Given the description of an element on the screen output the (x, y) to click on. 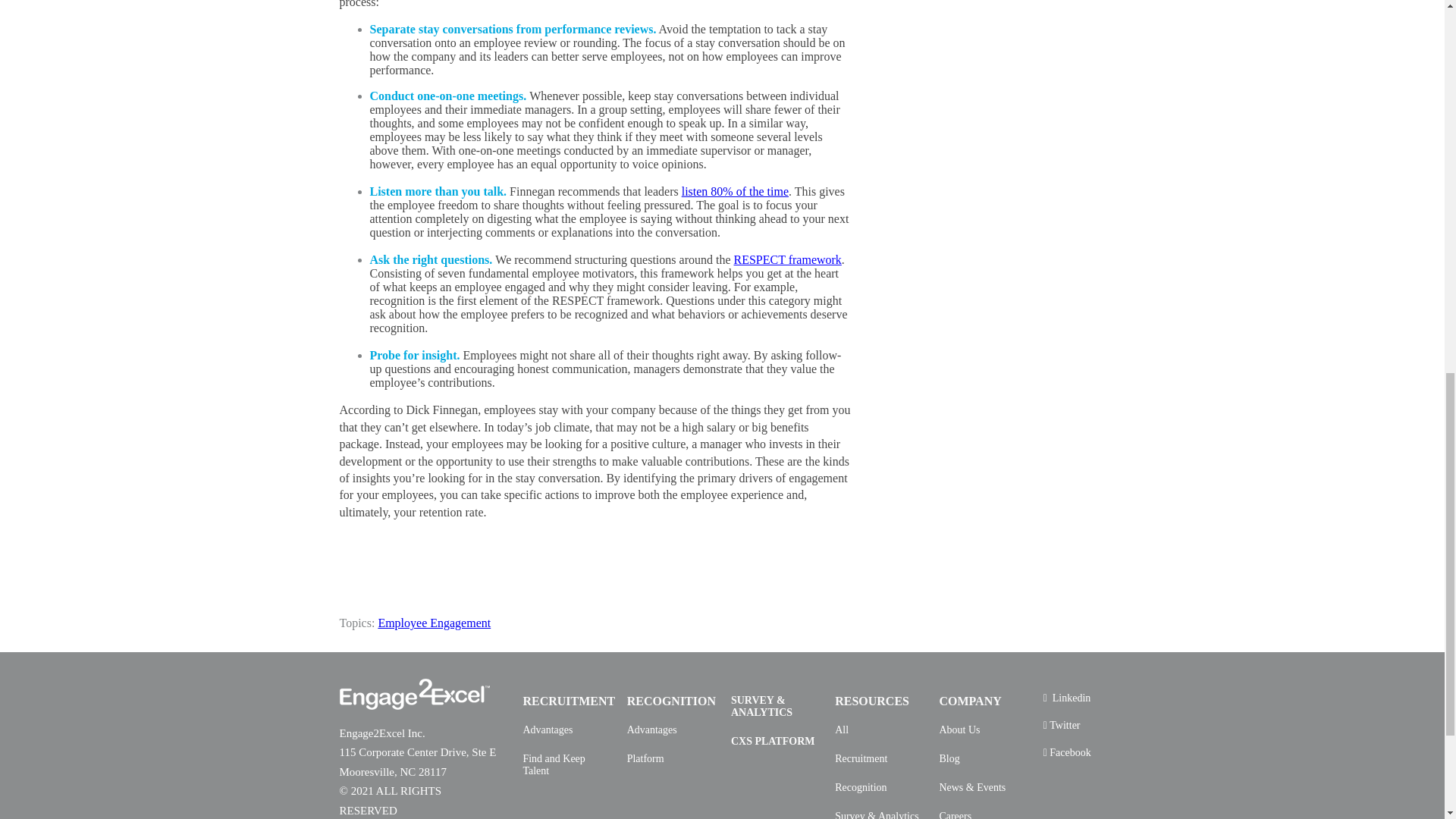
Advantages (547, 729)
engage-logo-footer-new.png (414, 694)
Find and Keep Talent (566, 764)
Platform (645, 758)
Advantages (652, 729)
RESPECT framework (787, 259)
Employee Engagement (433, 622)
